Given the description of an element on the screen output the (x, y) to click on. 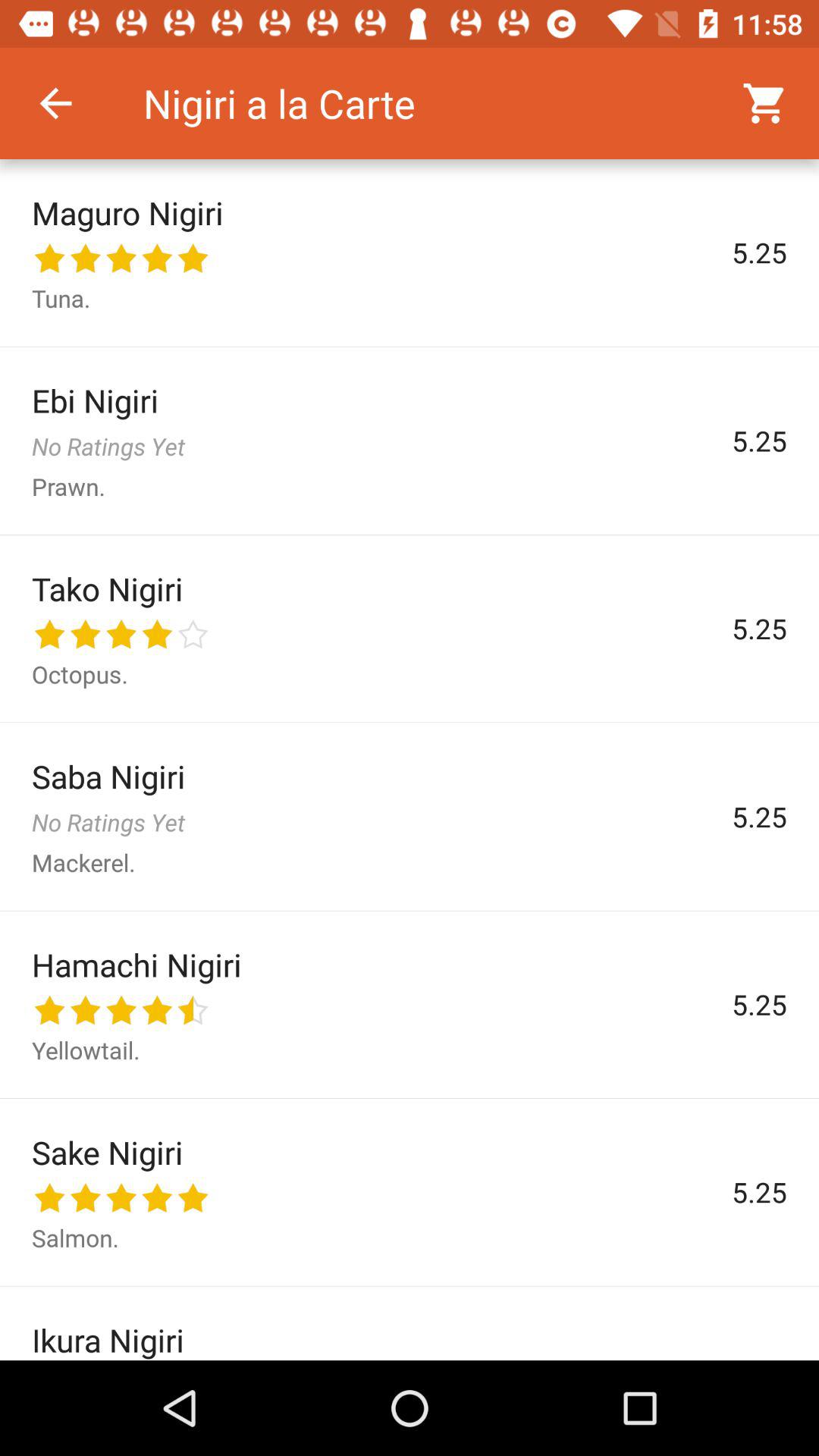
press item to the left of the nigiri a la item (55, 103)
